Given the description of an element on the screen output the (x, y) to click on. 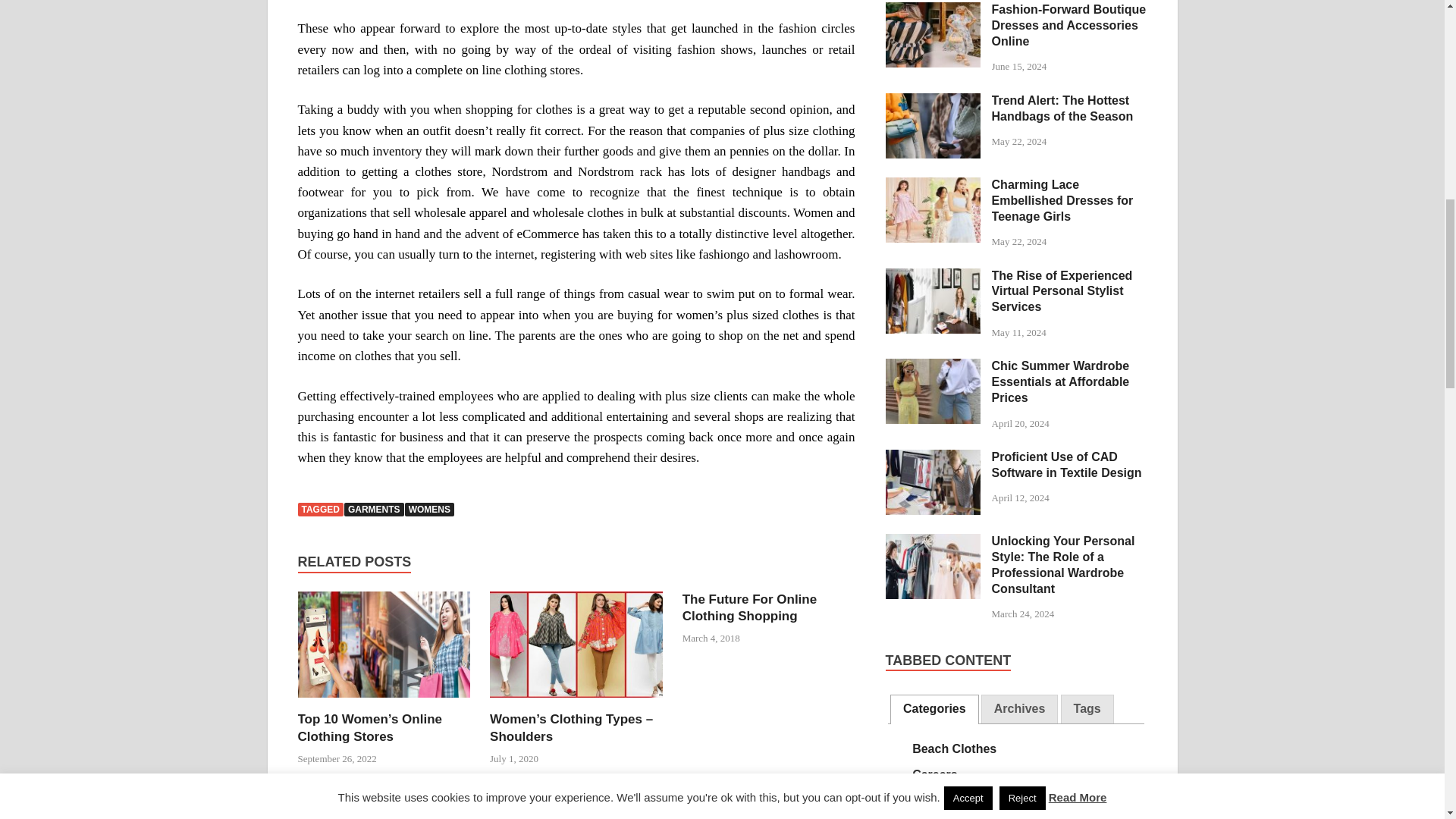
The Future For Online Clothing Shopping (749, 607)
Chic Summer Wardrobe Essentials at Affordable Prices (932, 367)
Fashion-Forward Boutique Dresses and Accessories Online (932, 10)
Charming Lace Embellished Dresses for Teenage Girls (932, 185)
The Rise of Experienced Virtual Personal Stylist Services (932, 277)
Proficient Use of CAD Software in Textile Design (932, 458)
Trend Alert: The Hottest Handbags of the Season (932, 101)
